Given the description of an element on the screen output the (x, y) to click on. 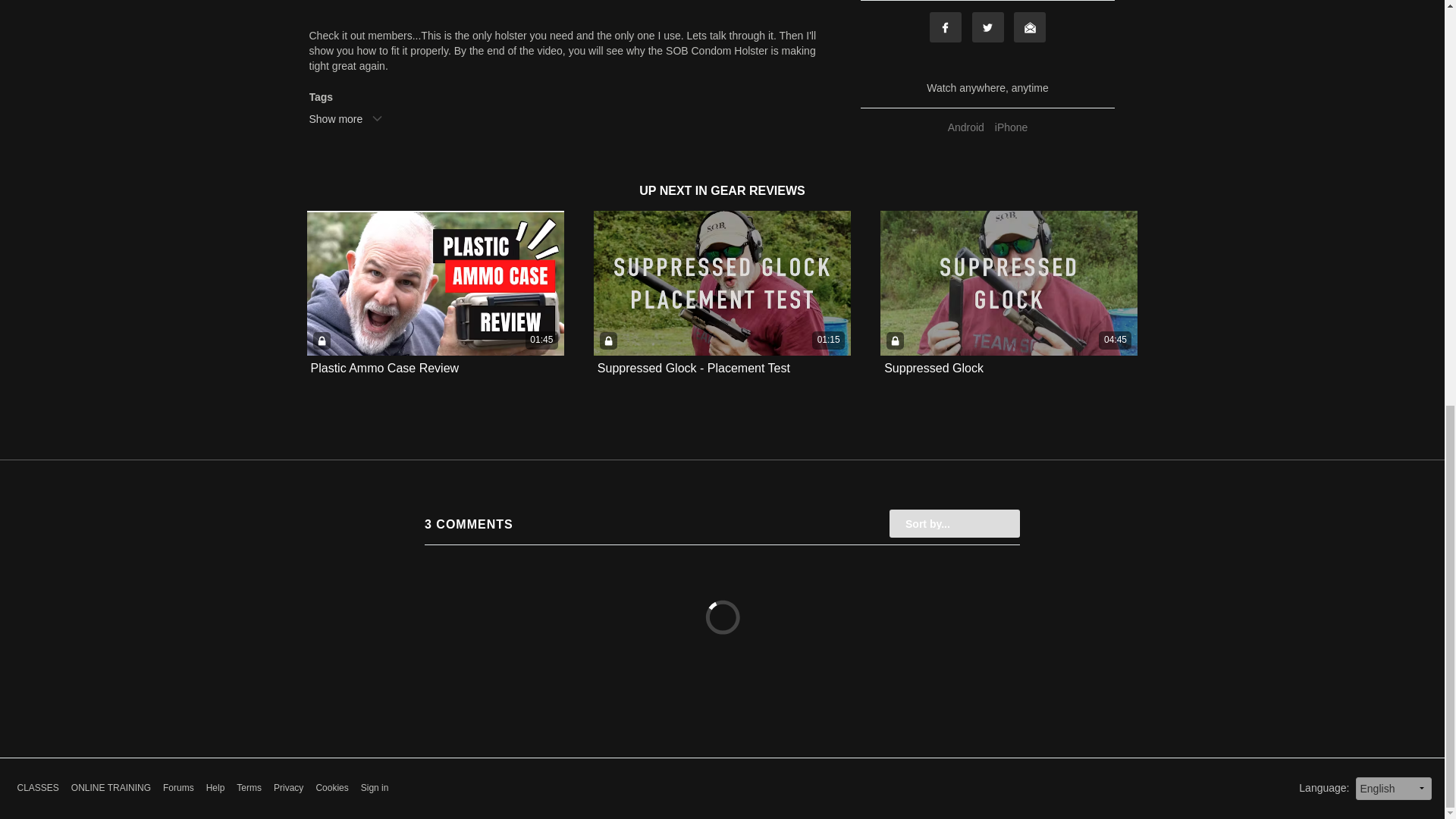
Email (1029, 27)
GEAR REVIEWS (757, 190)
Suppressed Glock - Placement Test (693, 367)
01:15 (722, 282)
04:45 (1008, 282)
Forums (178, 788)
ONLINE TRAINING (111, 788)
Facebook (945, 27)
CLASSES (37, 788)
Plastic Ammo Case Review (385, 368)
